Given the description of an element on the screen output the (x, y) to click on. 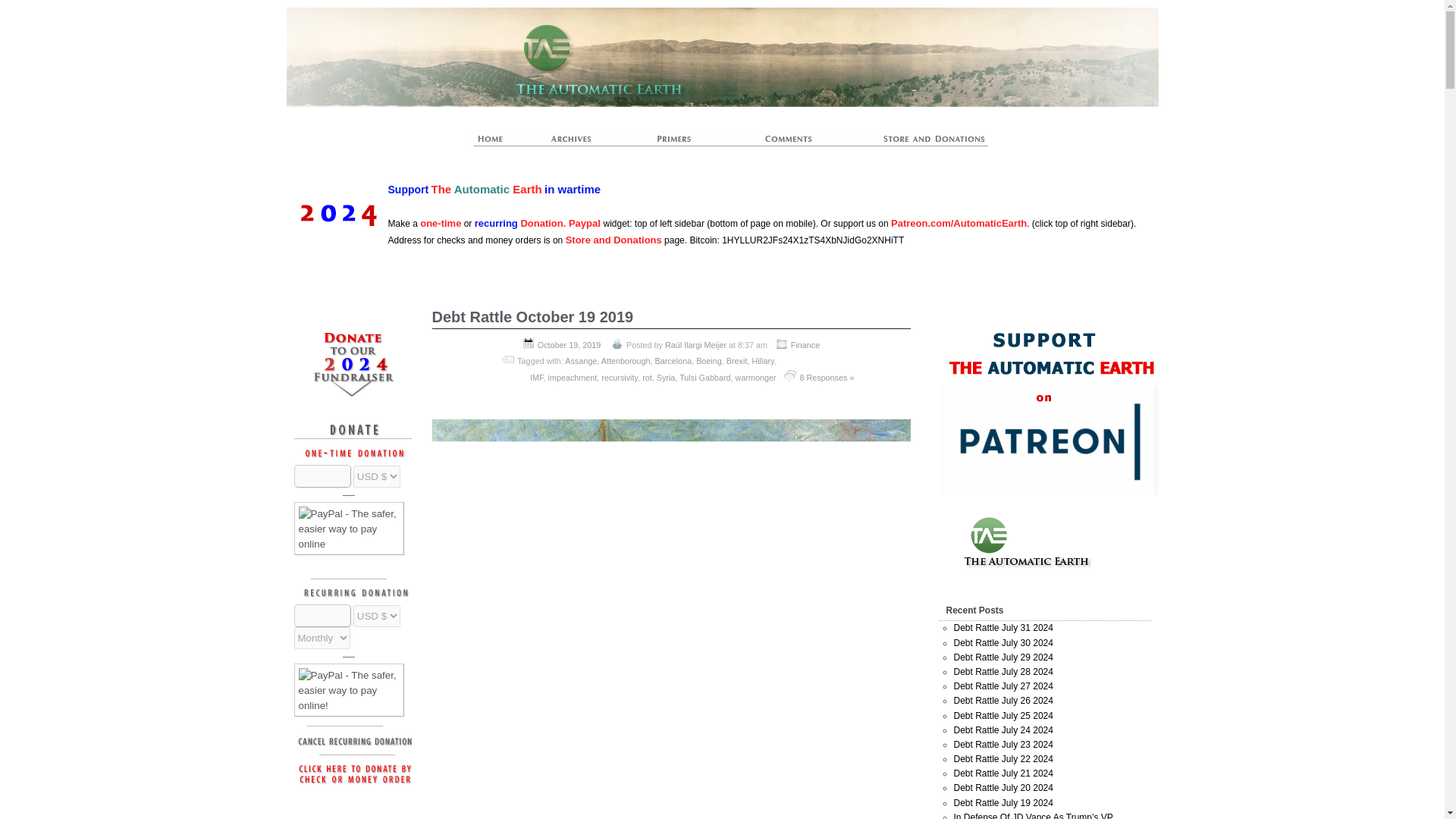
Archives (577, 143)
recursivity (619, 377)
Boeing (708, 360)
Store And Donations (916, 143)
Primers (680, 143)
impeachment (571, 377)
Forum (789, 143)
The Automatic Earth (498, 143)
warmonger (755, 377)
rot (647, 377)
Hillary (762, 360)
Assange (580, 360)
Debt Rattle October 19 2019 (532, 316)
Finance (804, 344)
The Automatic Earth (860, 36)
